Given the description of an element on the screen output the (x, y) to click on. 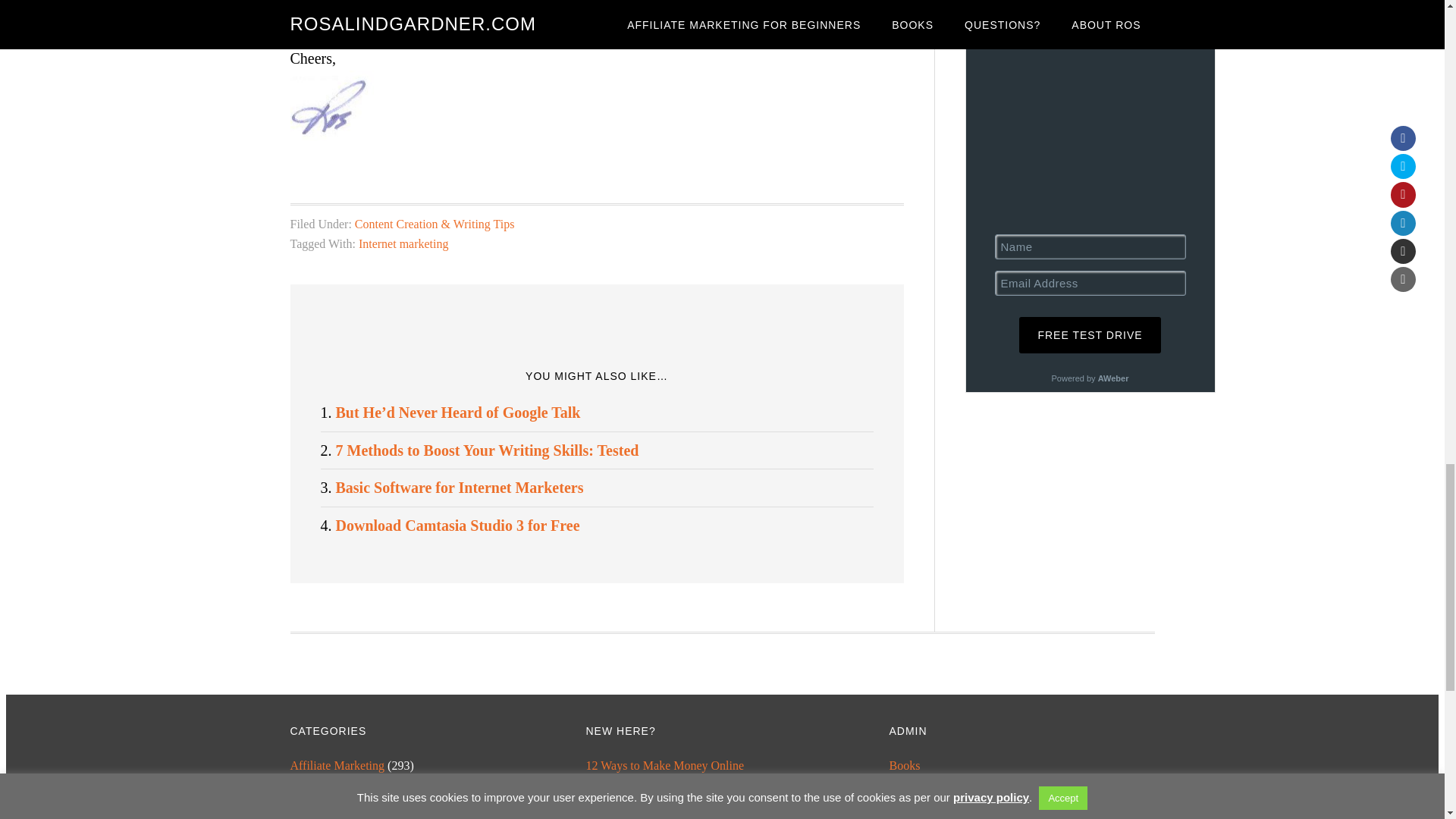
Free Test Drive (1089, 334)
AWeber (1113, 378)
Download Camtasia Studio 3 for Free (456, 524)
Basic Software for Internet Marketers (458, 487)
Name (1090, 246)
Free Test Drive (1089, 334)
7 Methods to Boost Your Writing Skills: Tested (486, 450)
Affiliate Marketing (336, 765)
Internet marketing (403, 243)
Email Address (1090, 283)
